Given the description of an element on the screen output the (x, y) to click on. 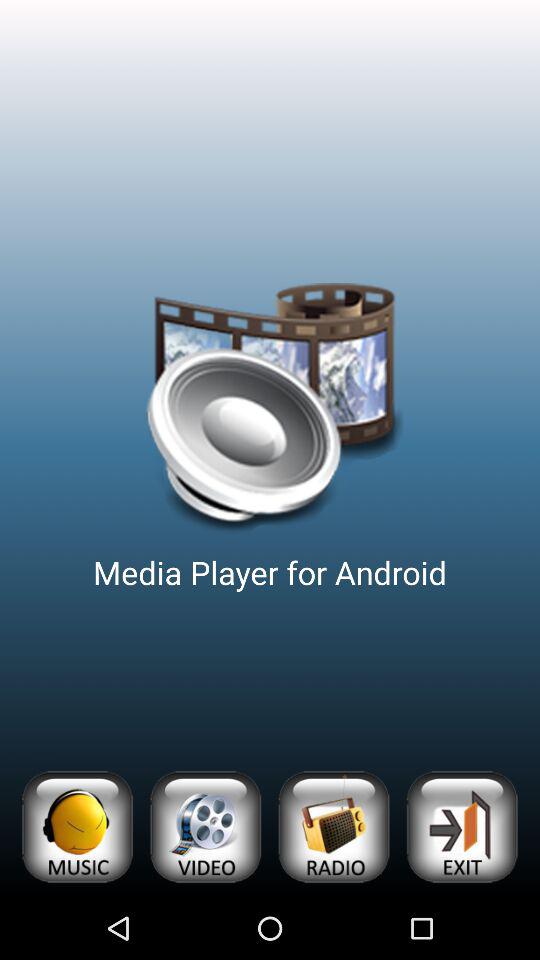
turn on icon at the bottom right corner (461, 826)
